Given the description of an element on the screen output the (x, y) to click on. 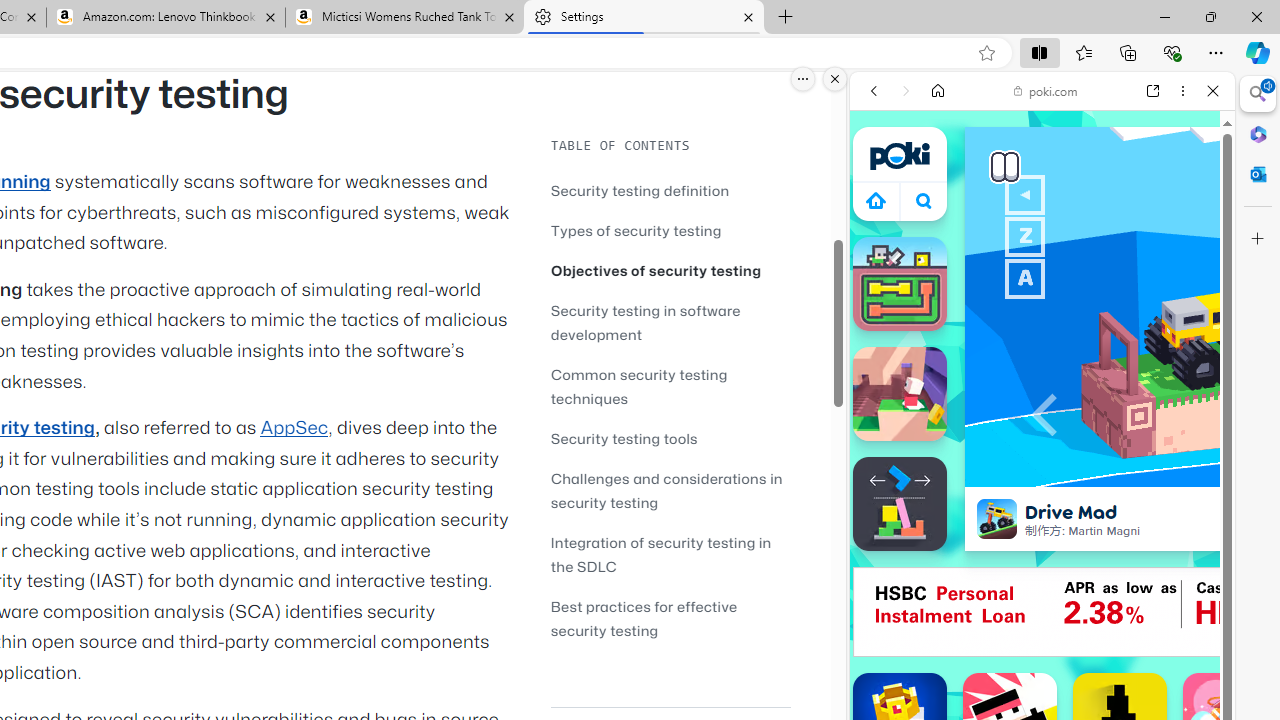
Security testing tools (670, 438)
Best practices for effective security testing (644, 618)
Poki - Free Online Games - Play Now! (1034, 309)
Integration of security testing in the SDLC (660, 554)
Wall of Doom Wall of Doom (899, 393)
Show More Shooting Games (1164, 521)
Objectives of security testing (655, 270)
Show More Car Games (1164, 472)
Io Games (1042, 617)
Challenges and considerations in security testing (666, 490)
Common security testing techniques (639, 385)
